Given the description of an element on the screen output the (x, y) to click on. 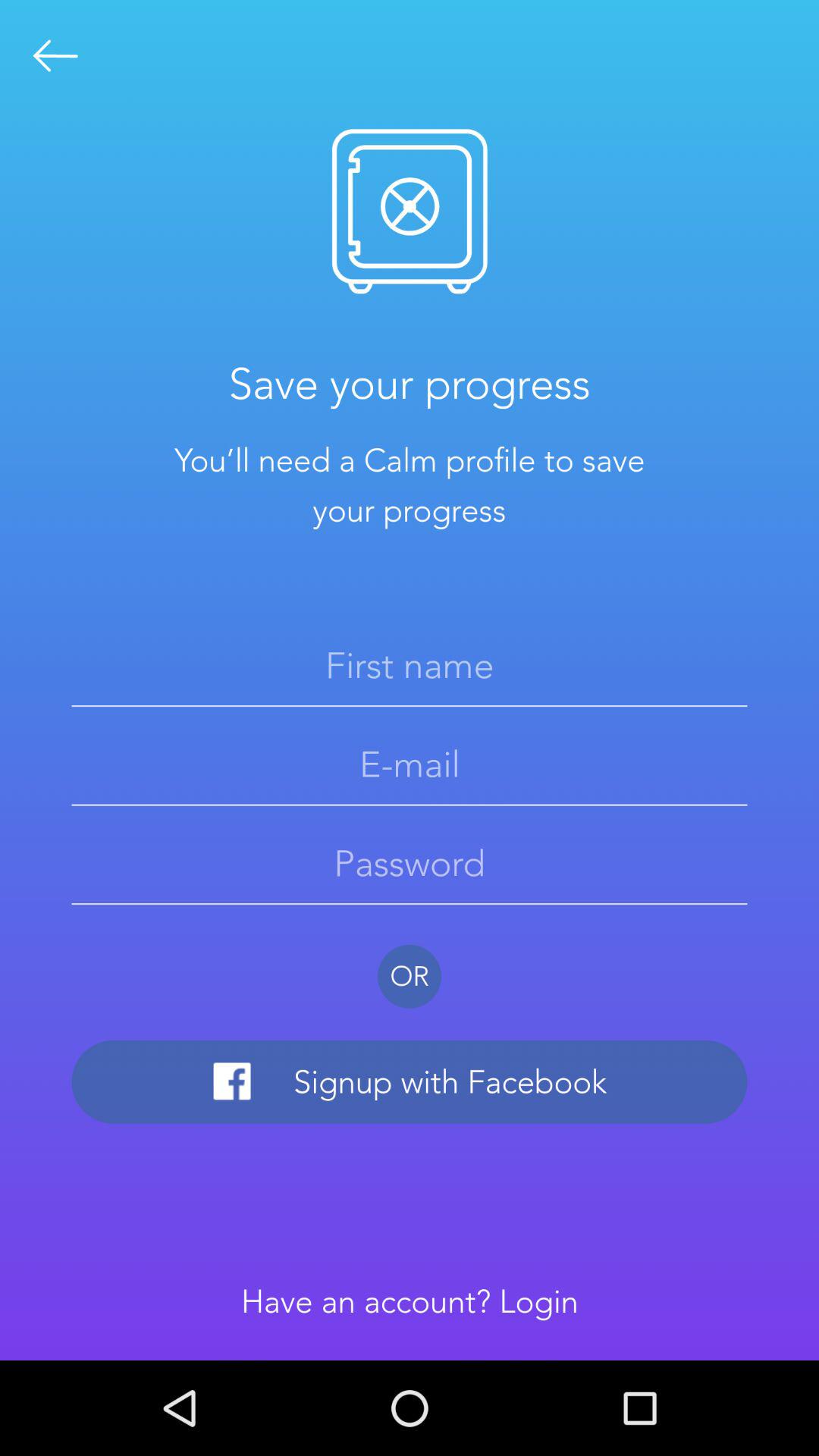
email address (409, 763)
